Given the description of an element on the screen output the (x, y) to click on. 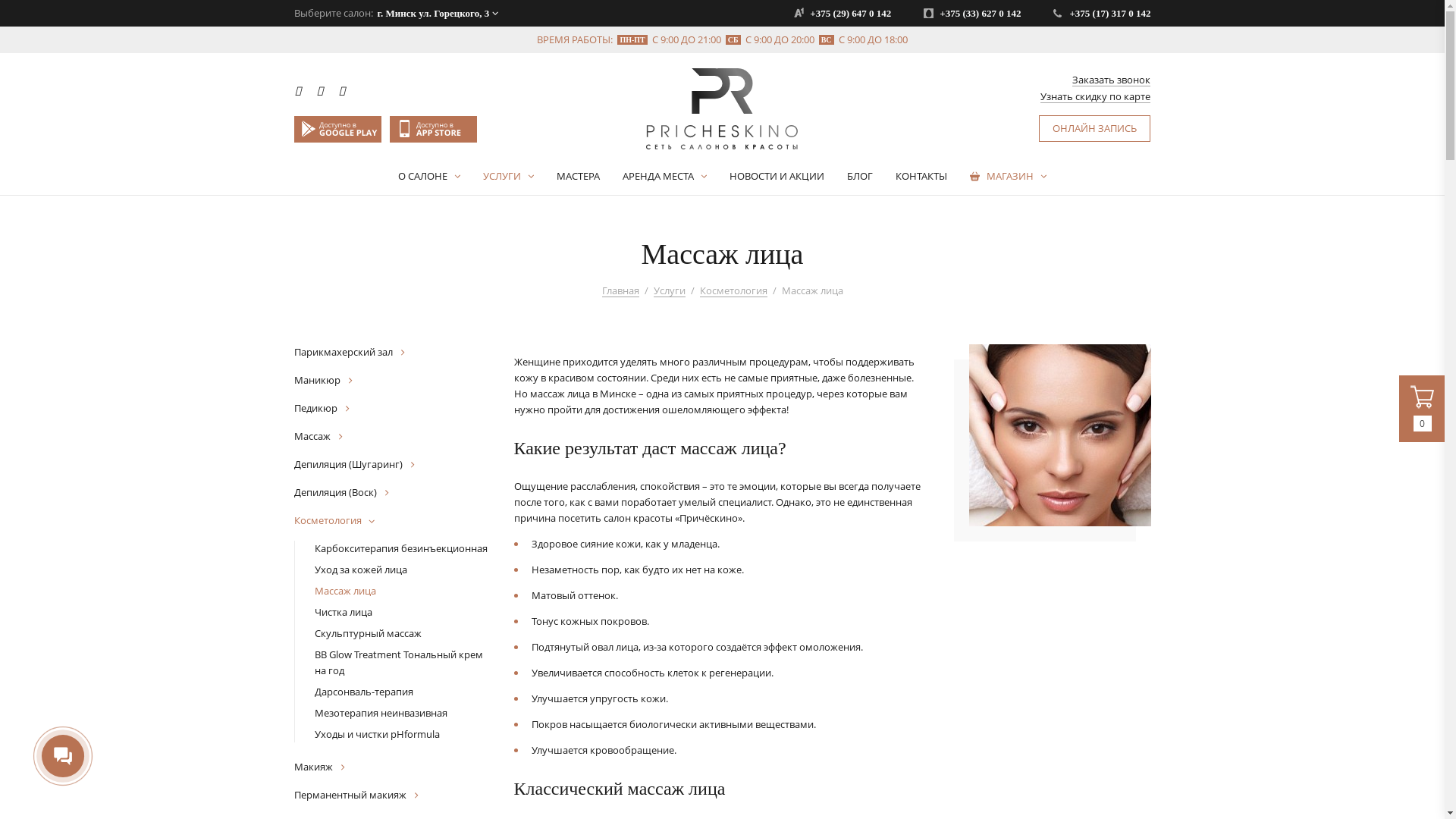
0 Element type: text (1422, 408)
+375 (17) 317 0 142 Element type: text (1101, 13)
+375 (29) 647 0 142 Element type: text (842, 13)
+375 (33) 627 0 142 Element type: text (971, 13)
